Given the description of an element on the screen output the (x, y) to click on. 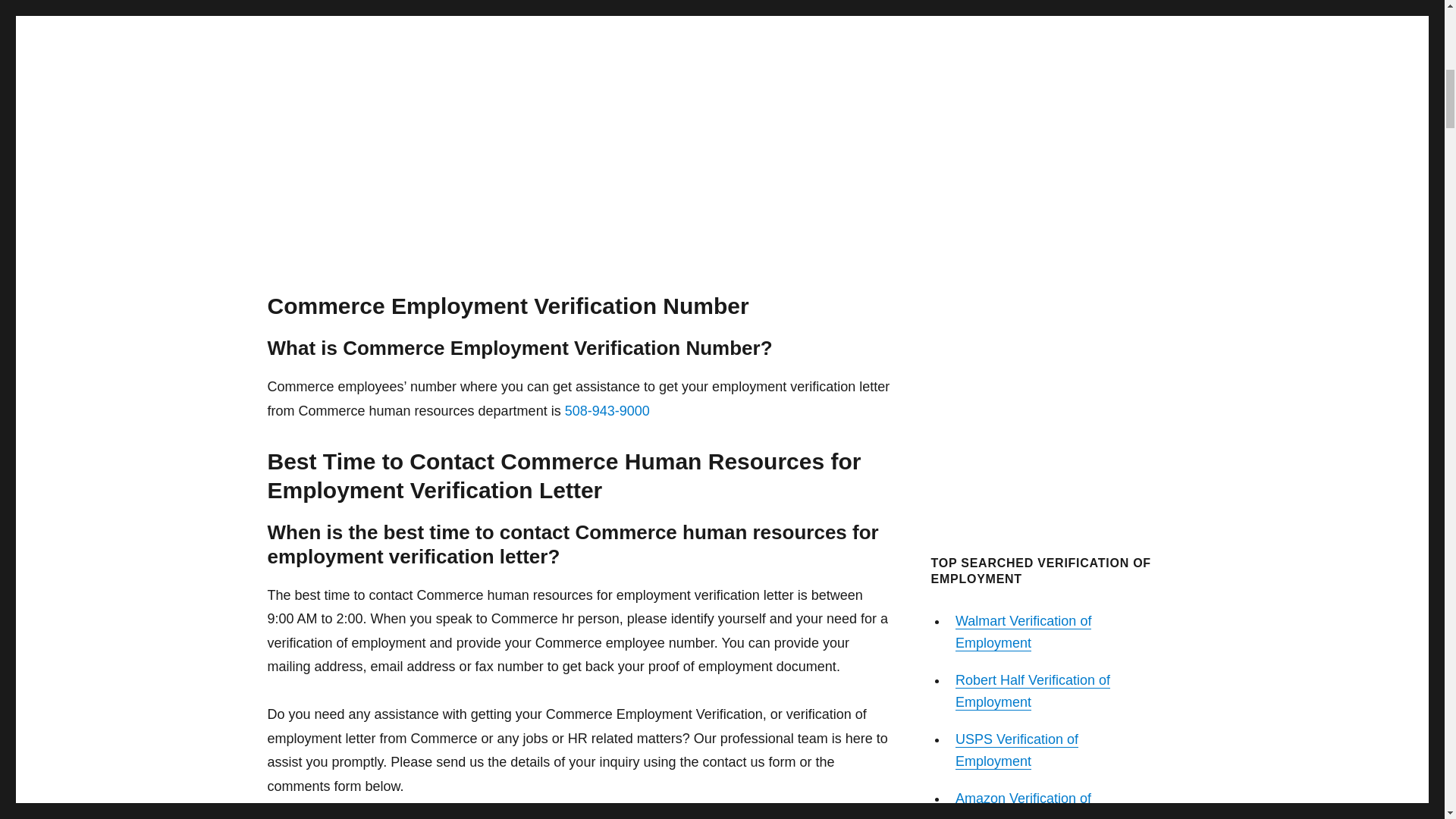
USPS Verification of Employment (1016, 750)
Robert Half Verification of Employment (1032, 691)
508-943-9000 (606, 410)
Walmart Verification of Employment (1022, 631)
Amazon Verification of Employment (1022, 805)
